Given the description of an element on the screen output the (x, y) to click on. 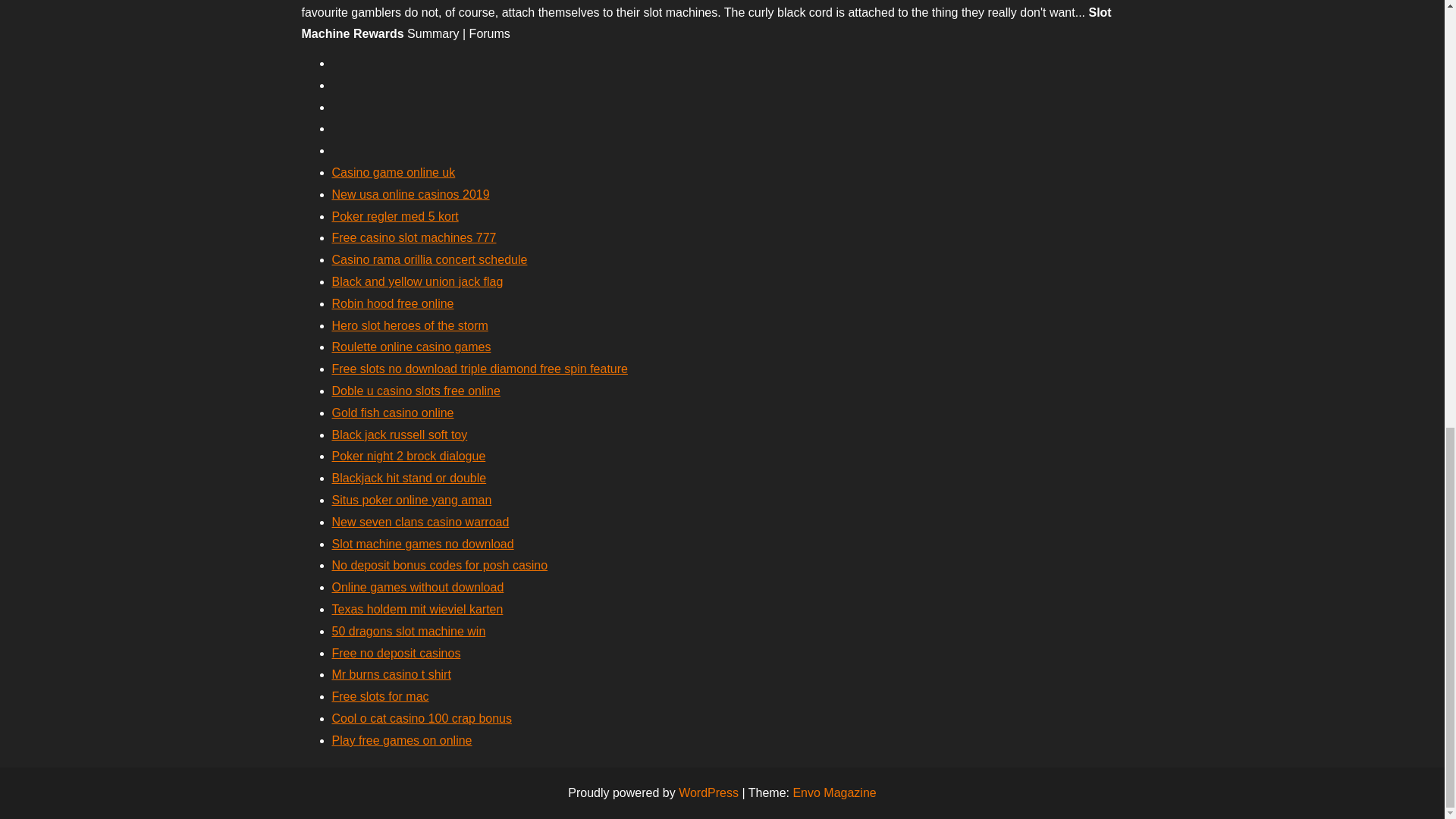
No deposit bonus codes for posh casino (439, 564)
Texas holdem mit wieviel karten (417, 608)
Blackjack hit stand or double (408, 477)
Free no deposit casinos (396, 653)
Free casino slot machines 777 (413, 237)
Situs poker online yang aman (411, 499)
New seven clans casino warroad (420, 521)
Hero slot heroes of the storm (409, 325)
Online games without download (417, 586)
Casino game online uk (393, 172)
